Given the description of an element on the screen output the (x, y) to click on. 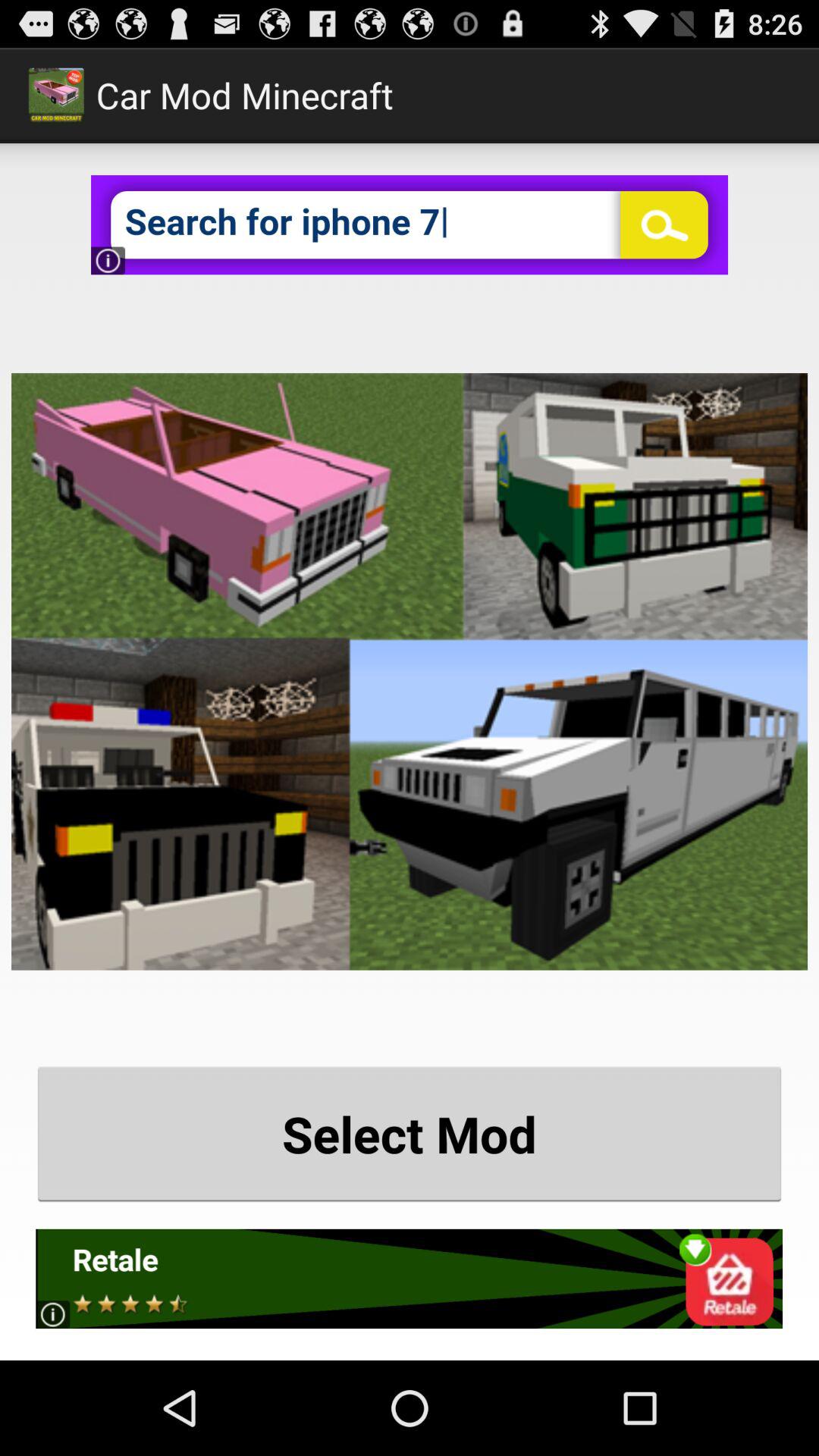
turn on the button below the select mod item (408, 1278)
